Given the description of an element on the screen output the (x, y) to click on. 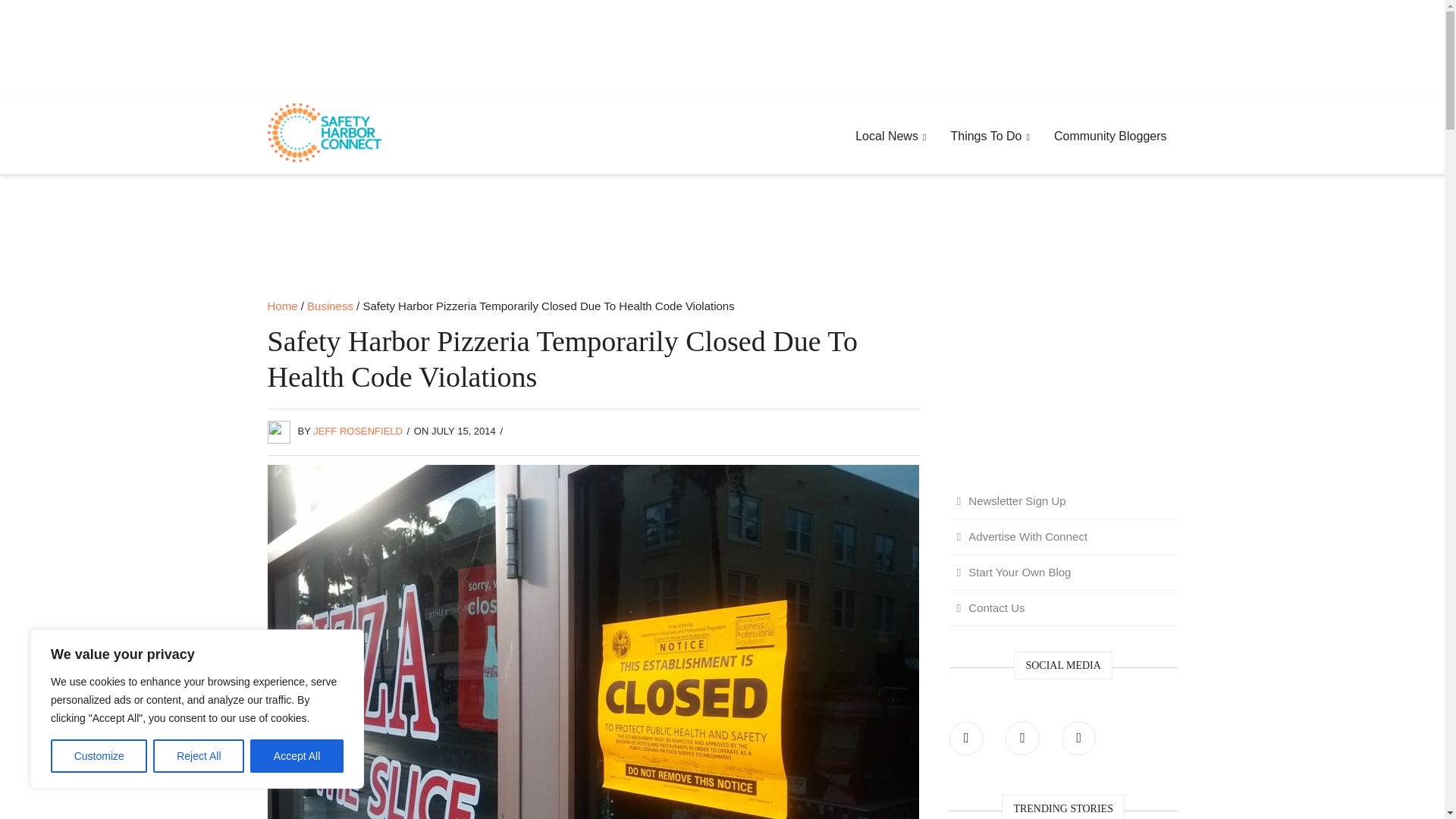
Things To Do (989, 136)
Local News (890, 136)
Home (281, 305)
JEFF ROSENFIELD (358, 430)
Customize (98, 756)
Twitter (1022, 738)
Facebook (966, 738)
Accept All (296, 756)
Reject All (198, 756)
